Given the description of an element on the screen output the (x, y) to click on. 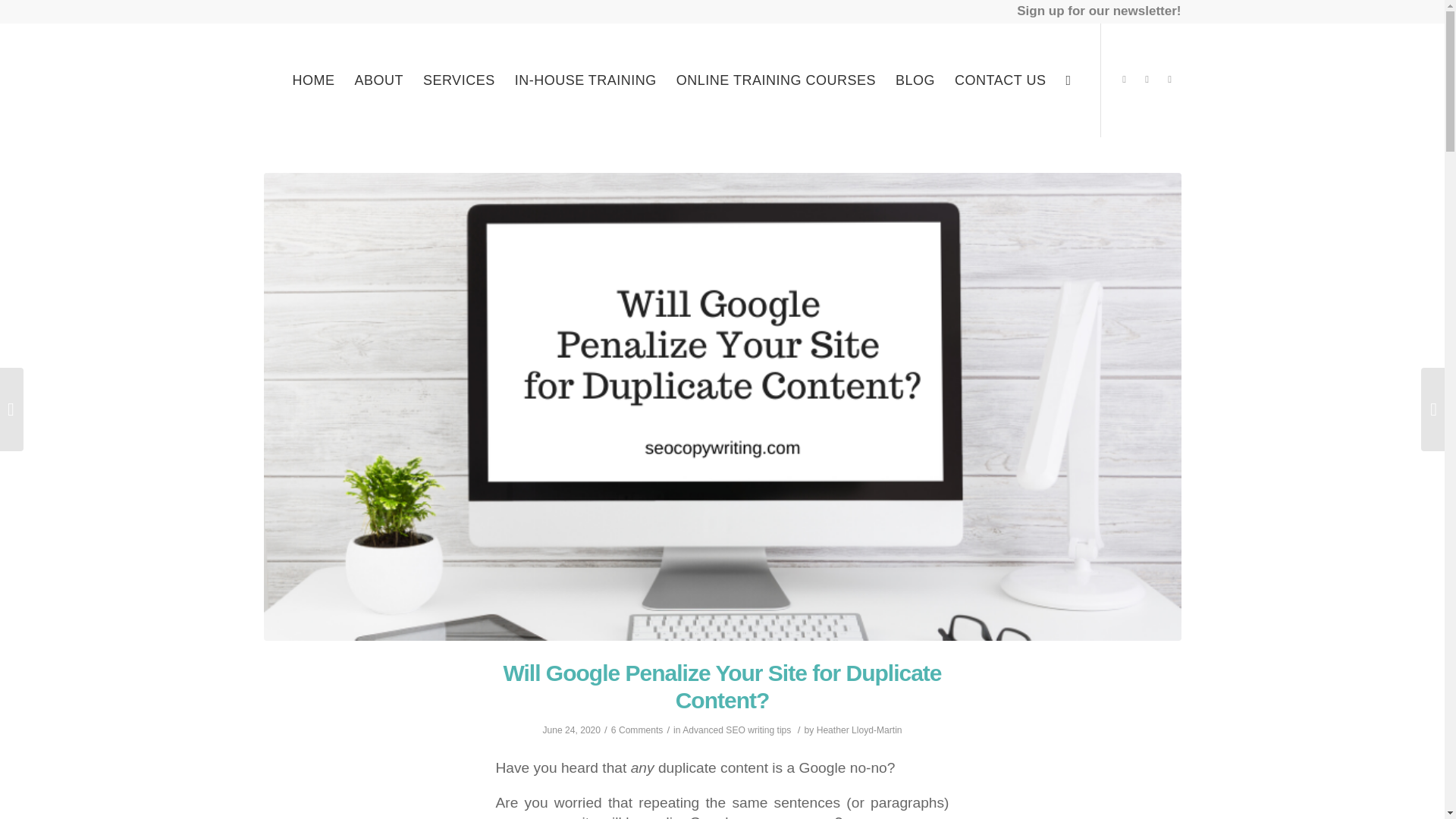
LinkedIn (1146, 78)
Heather Lloyd-Martin (859, 729)
CONTACT US (999, 80)
Advanced SEO writing tips (736, 729)
ONLINE TRAINING COURSES (775, 80)
Posts by Heather Lloyd-Martin (859, 729)
Twitter (1124, 78)
In-House Training (585, 80)
IN-HOUSE TRAINING (585, 80)
Will Google Penalize Your Site for Duplicate Content? (721, 686)
Online SEO Copywriting Courses (775, 80)
Sign up for our newsletter! (1098, 9)
Facebook (1169, 78)
